Given the description of an element on the screen output the (x, y) to click on. 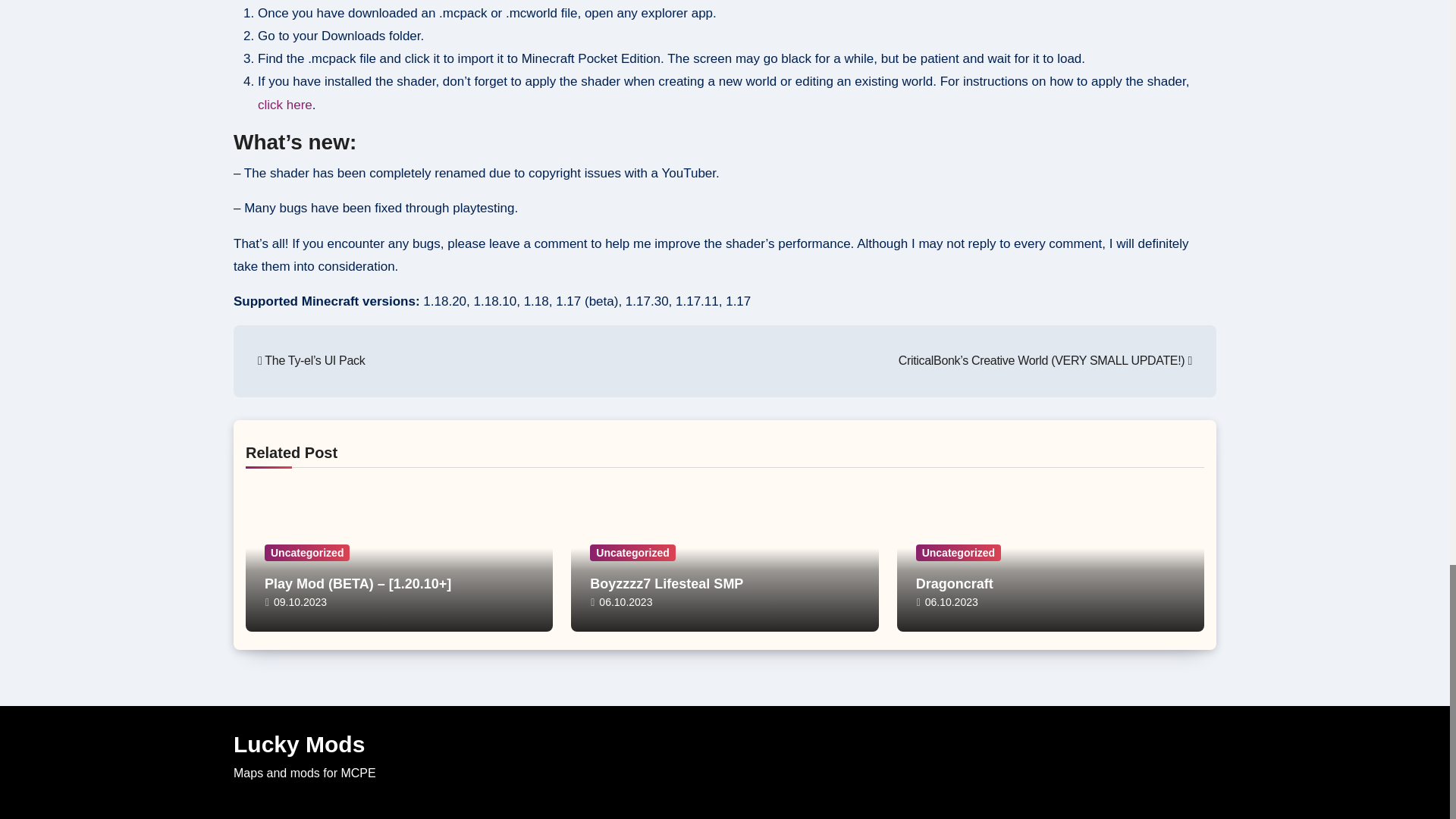
Uncategorized (306, 552)
click here (285, 104)
06.10.2023 (625, 602)
Uncategorized (958, 552)
Boyzzzz7 Lifesteal SMP (665, 583)
09.10.2023 (299, 602)
Dragoncraft (953, 583)
Uncategorized (632, 552)
